Given the description of an element on the screen output the (x, y) to click on. 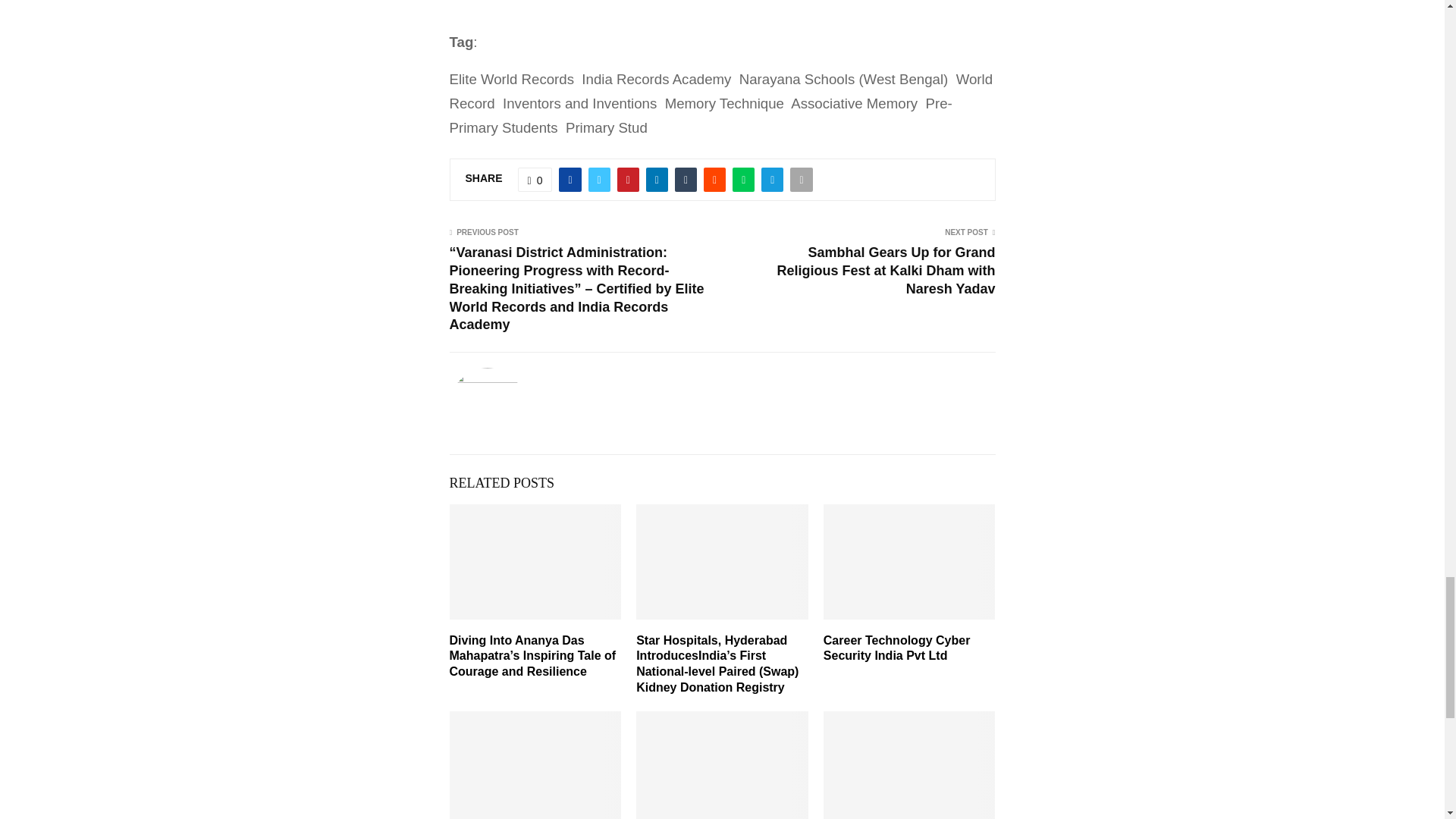
Like (535, 179)
